Given the description of an element on the screen output the (x, y) to click on. 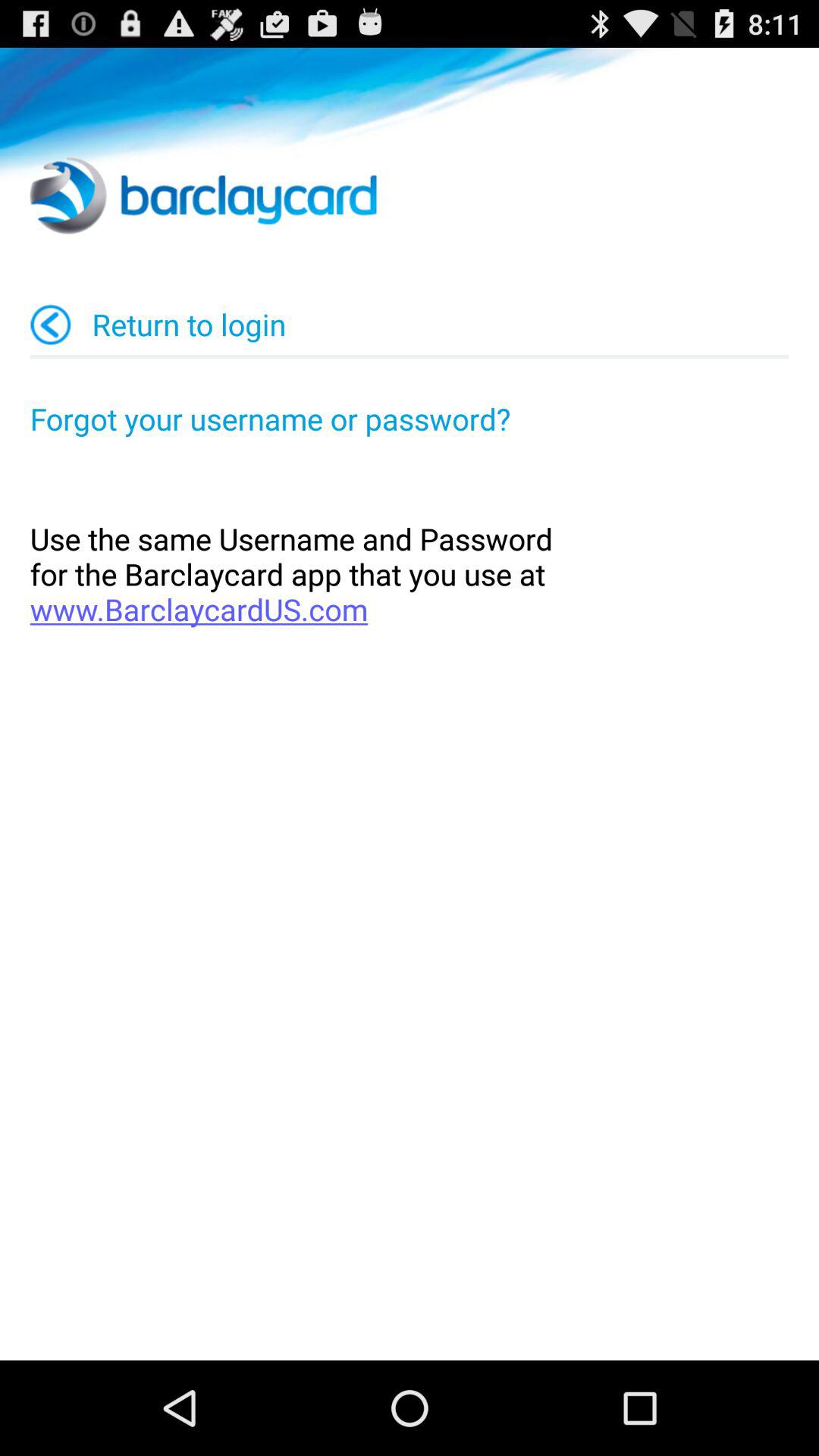
launch the icon below the forgot your username item (409, 573)
